Given the description of an element on the screen output the (x, y) to click on. 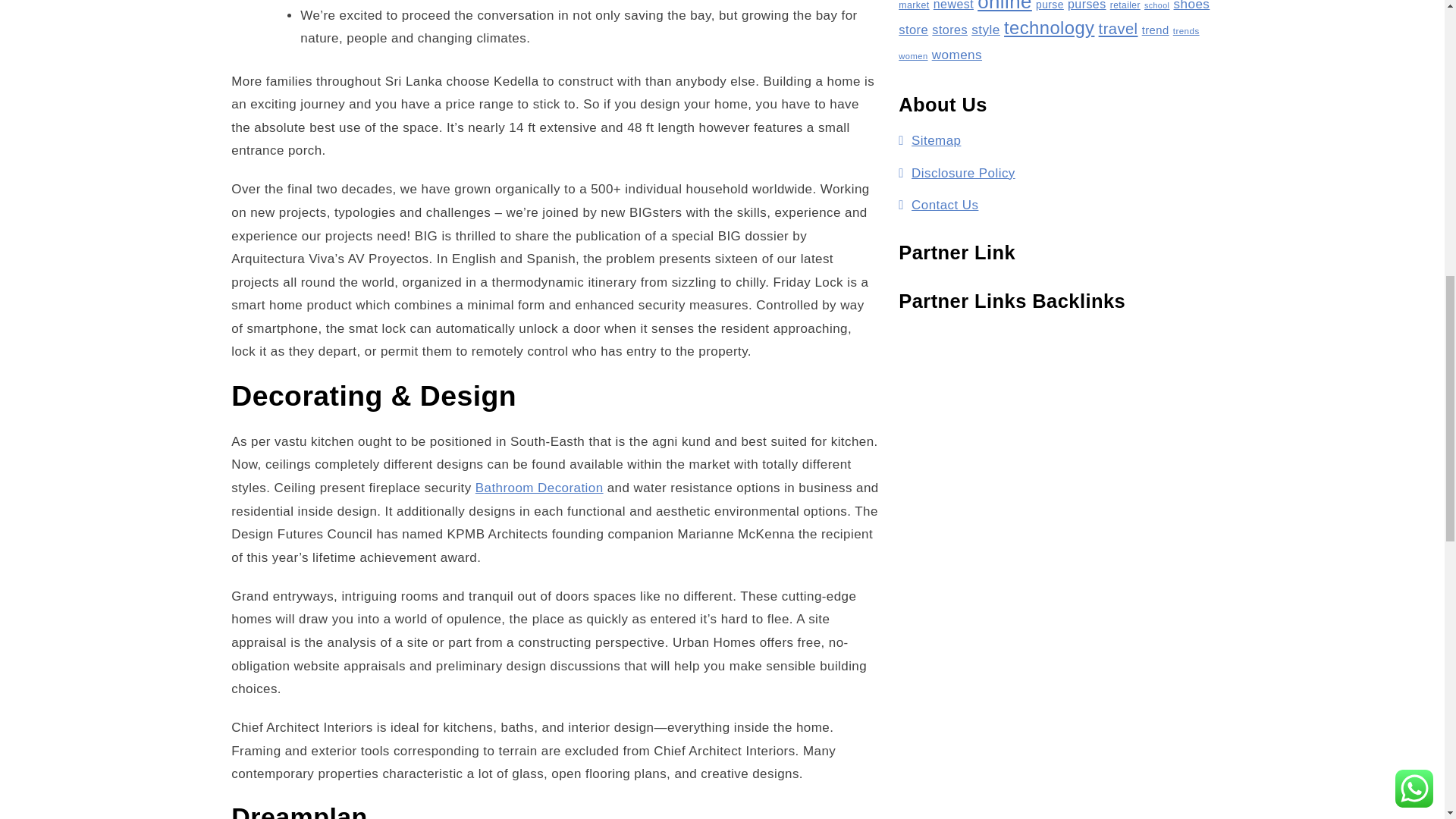
Bathroom Decoration (540, 487)
